Given the description of an element on the screen output the (x, y) to click on. 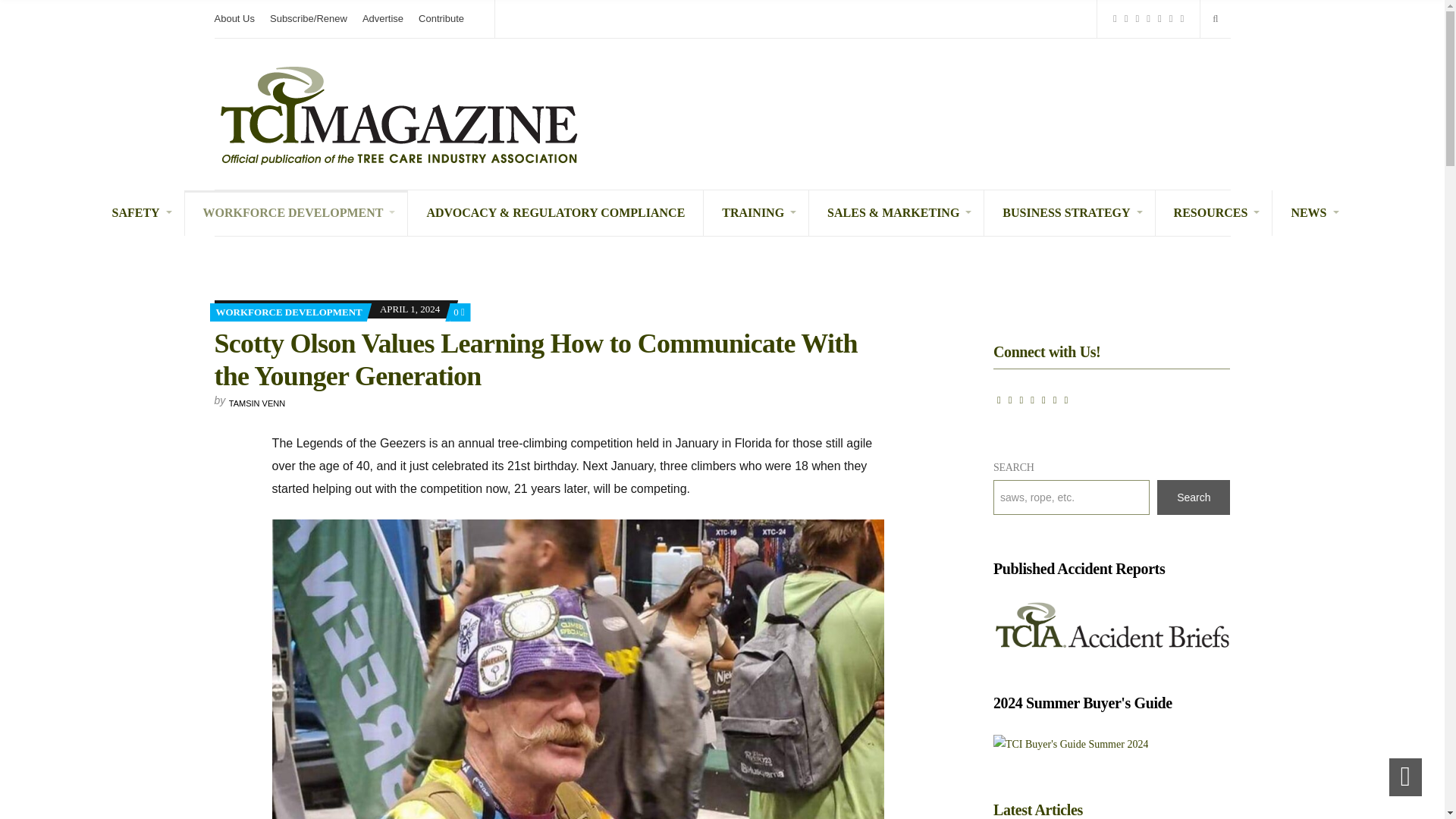
TRAINING (756, 212)
About Us (233, 18)
Contribute (441, 18)
SAFETY (138, 212)
BUSINESS STRATEGY (1069, 212)
WORKFORCE DEVELOPMENT (296, 212)
Advertise (382, 18)
